Given the description of an element on the screen output the (x, y) to click on. 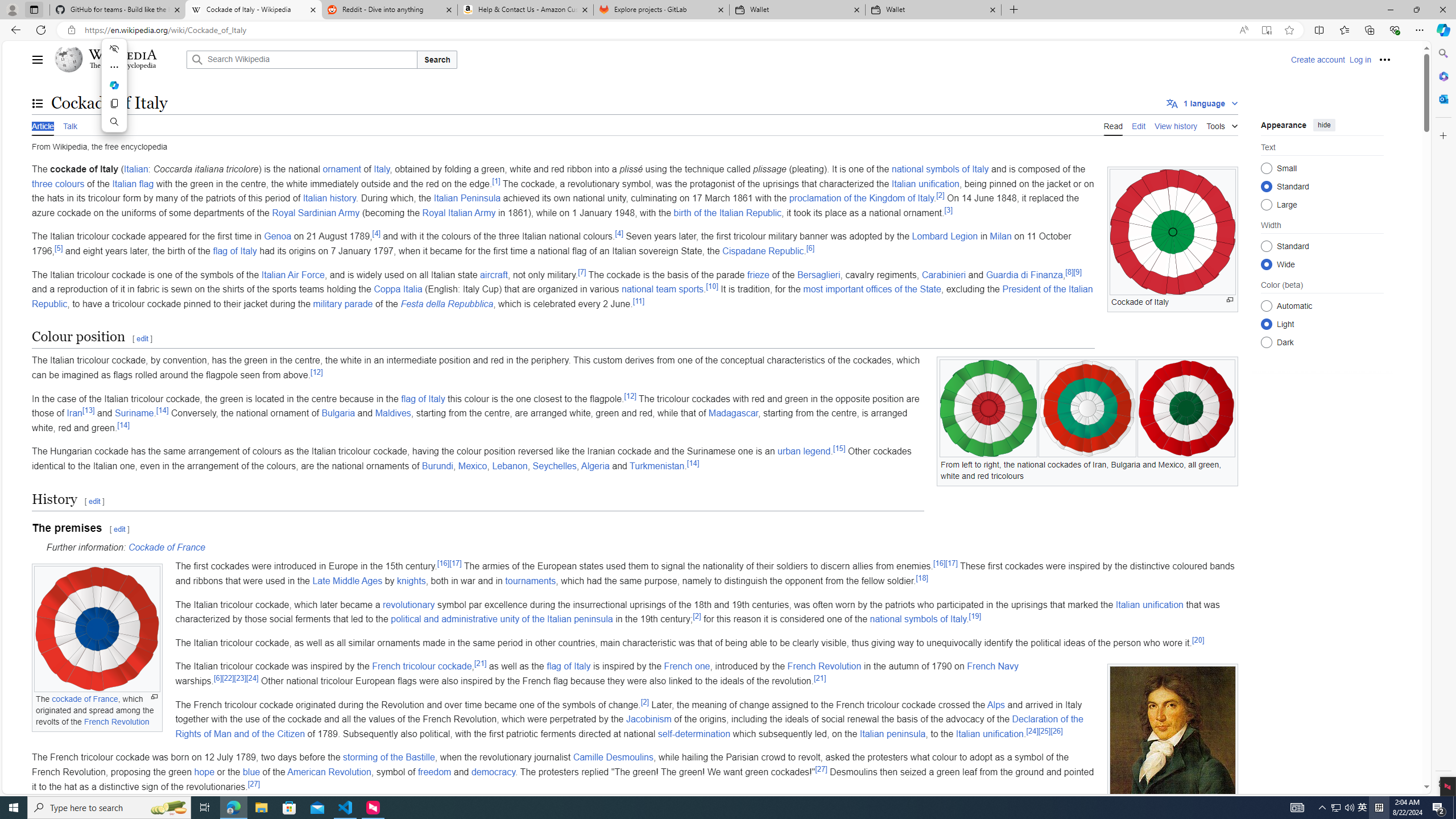
Read (1112, 124)
[27] (253, 782)
Read (1112, 124)
Italian history (329, 198)
Italian Peninsula (466, 198)
Guardia di Finanza (1023, 274)
edit (119, 528)
Royal Sardinian Army (315, 212)
Italian (135, 169)
proclamation of the Kingdom of Italy (861, 198)
Genoa (277, 236)
Reddit - Dive into anything (390, 9)
[24] (1032, 730)
More actions (113, 67)
